Given the description of an element on the screen output the (x, y) to click on. 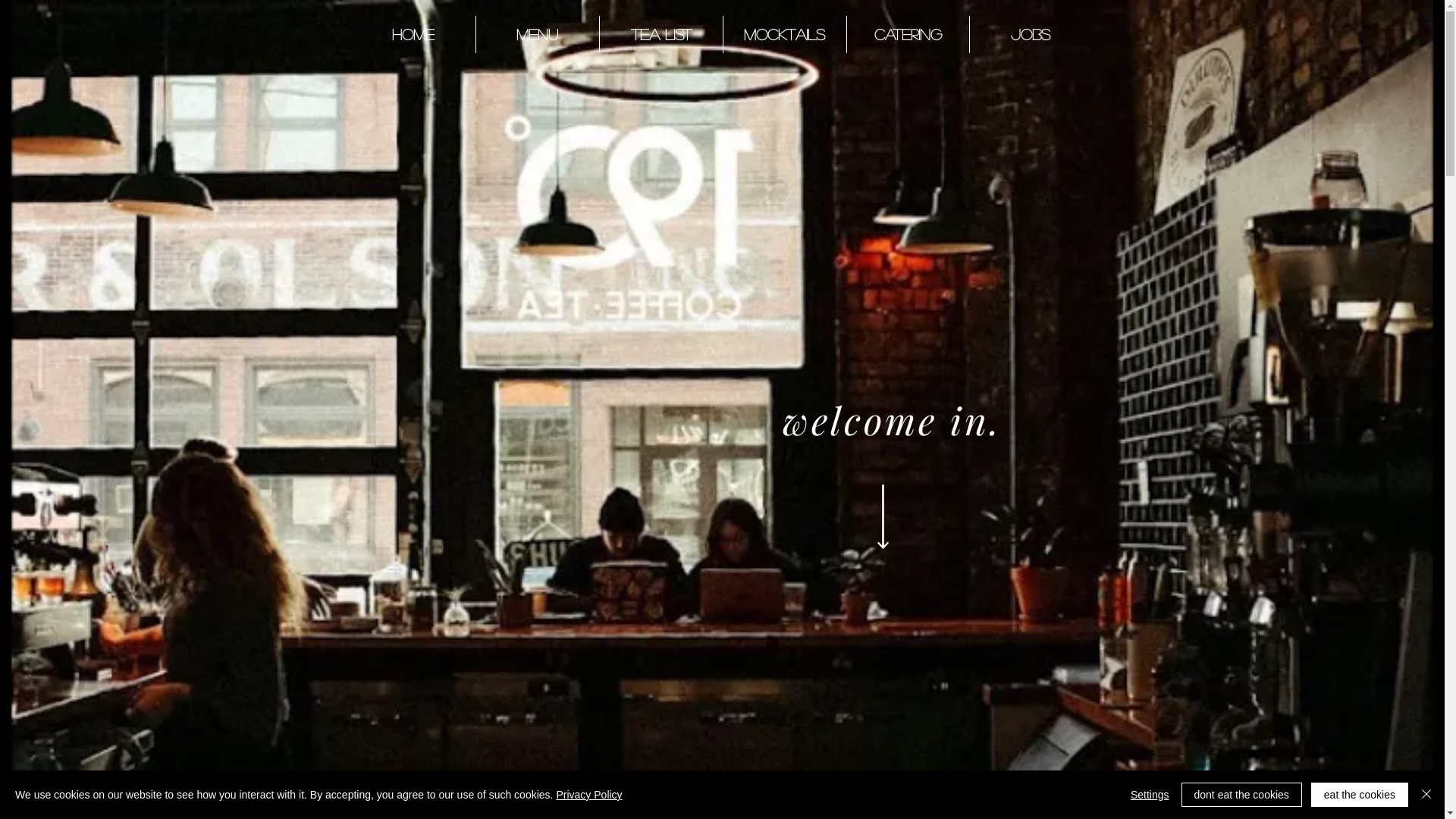
Visitor Analytics Element type: hover (1442, 4)
Home Element type: text (413, 34)
Mocktails Element type: text (784, 34)
Jobs Element type: text (1030, 34)
eat the cookies Element type: text (1359, 794)
Privacy Policy Element type: text (588, 794)
Tea List Element type: text (660, 34)
Catering Element type: text (907, 34)
Menu Element type: text (537, 34)
dont eat the cookies Element type: text (1241, 794)
